Given the description of an element on the screen output the (x, y) to click on. 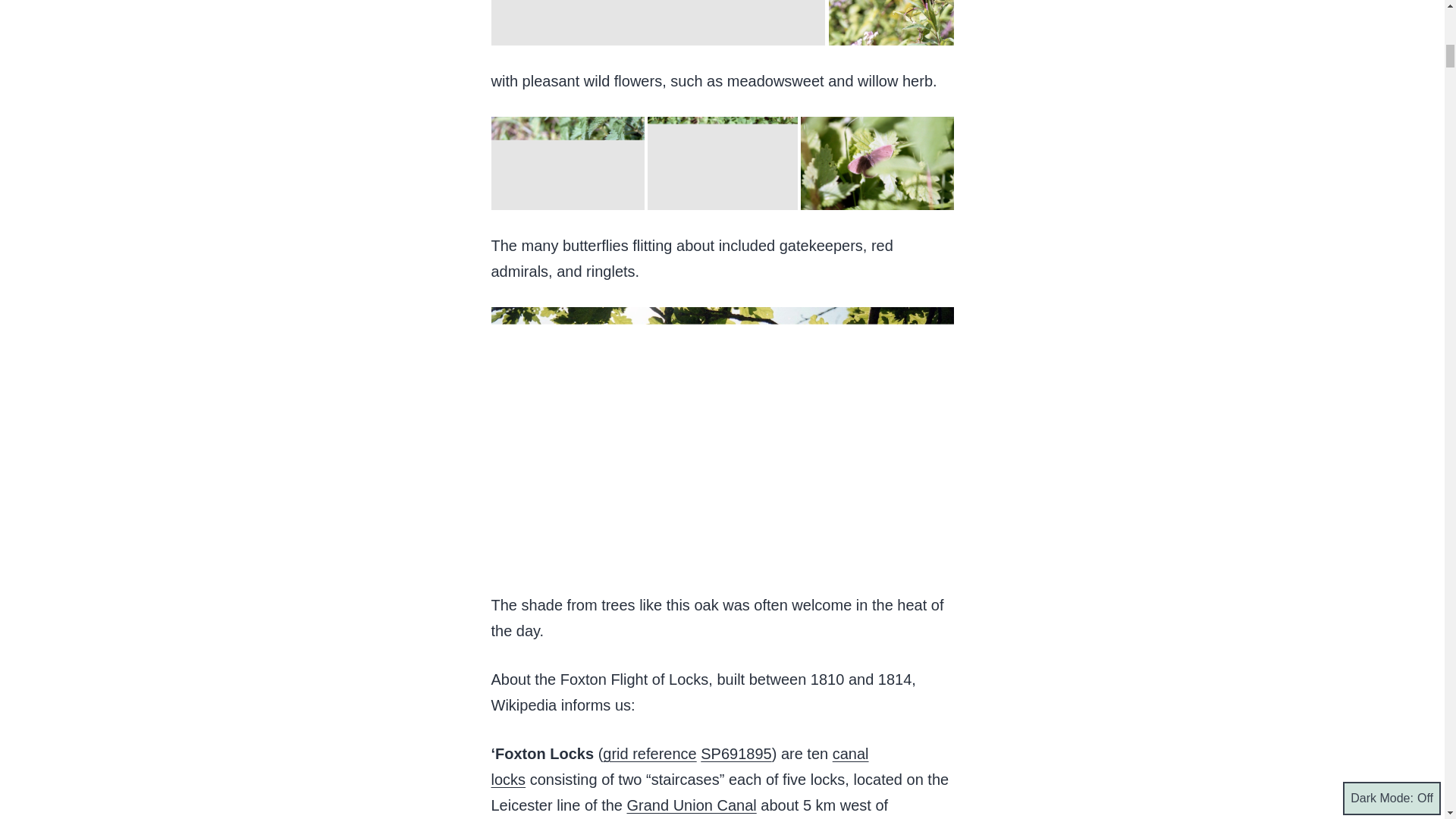
grid reference (648, 753)
SP691895 (735, 753)
Grand Union Canal (690, 805)
canal locks (680, 766)
